Given the description of an element on the screen output the (x, y) to click on. 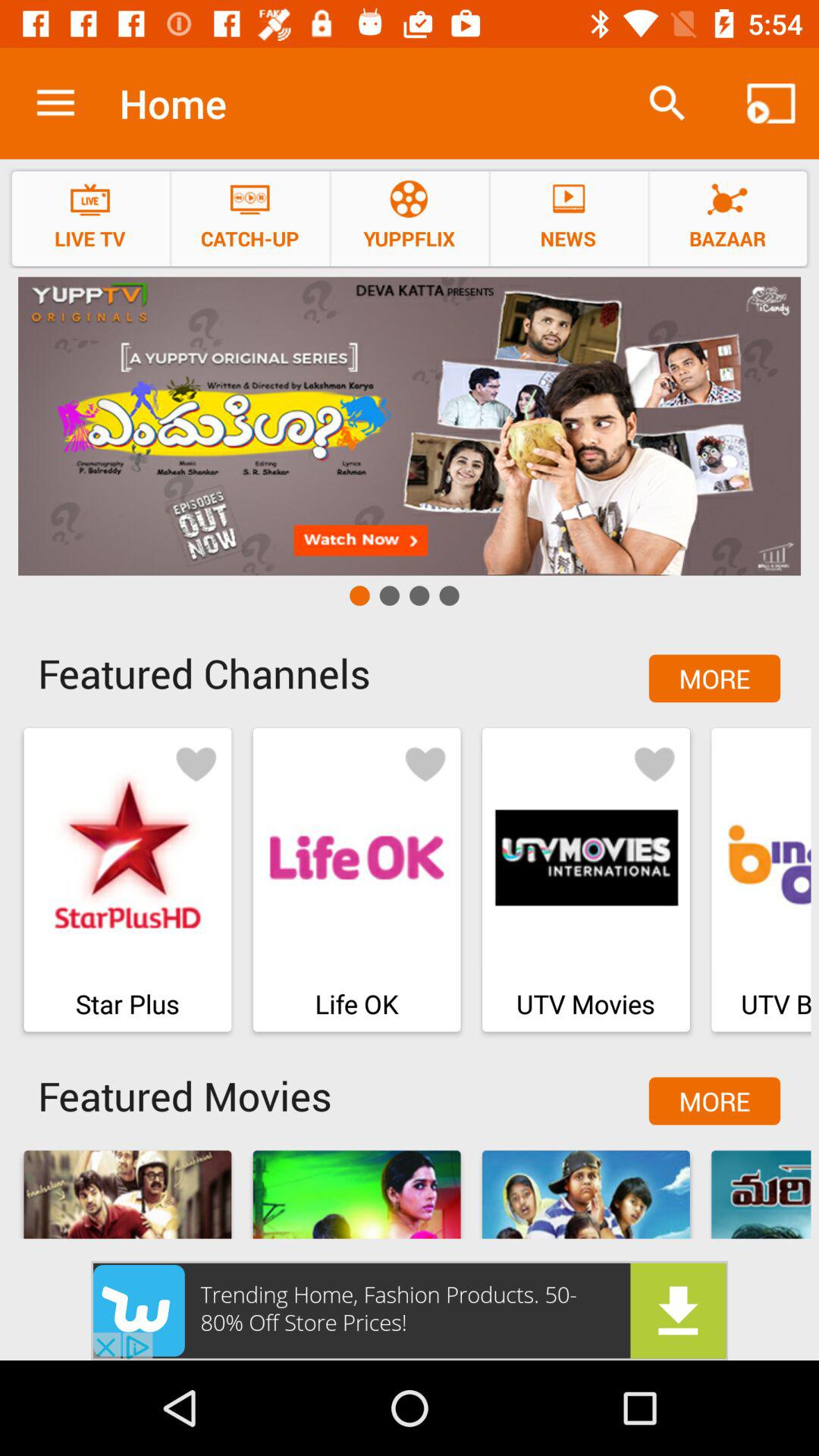
click like option (654, 763)
